Given the description of an element on the screen output the (x, y) to click on. 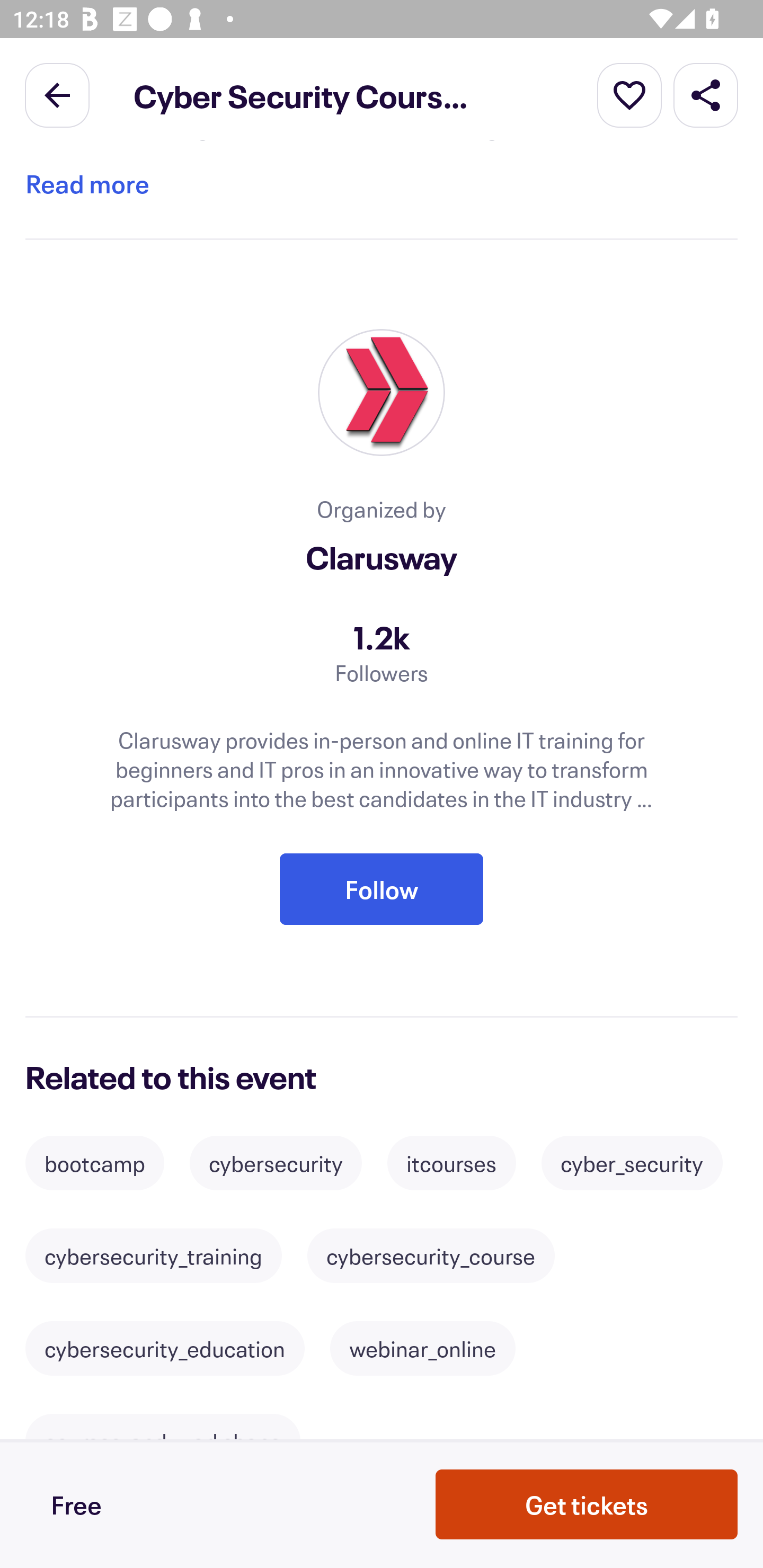
Back (57, 94)
More (629, 94)
Share (705, 94)
Read more (87, 183)
Organizer profile picture (381, 392)
Clarusway (381, 557)
Follow (381, 889)
bootcamp (94, 1163)
cybersecurity (275, 1163)
itcourses (451, 1163)
cyber_security (631, 1163)
cybersecurity_training (153, 1255)
cybersecurity_course (430, 1255)
cybersecurity_education (164, 1348)
webinar_online (422, 1348)
Get tickets (586, 1504)
